Given the description of an element on the screen output the (x, y) to click on. 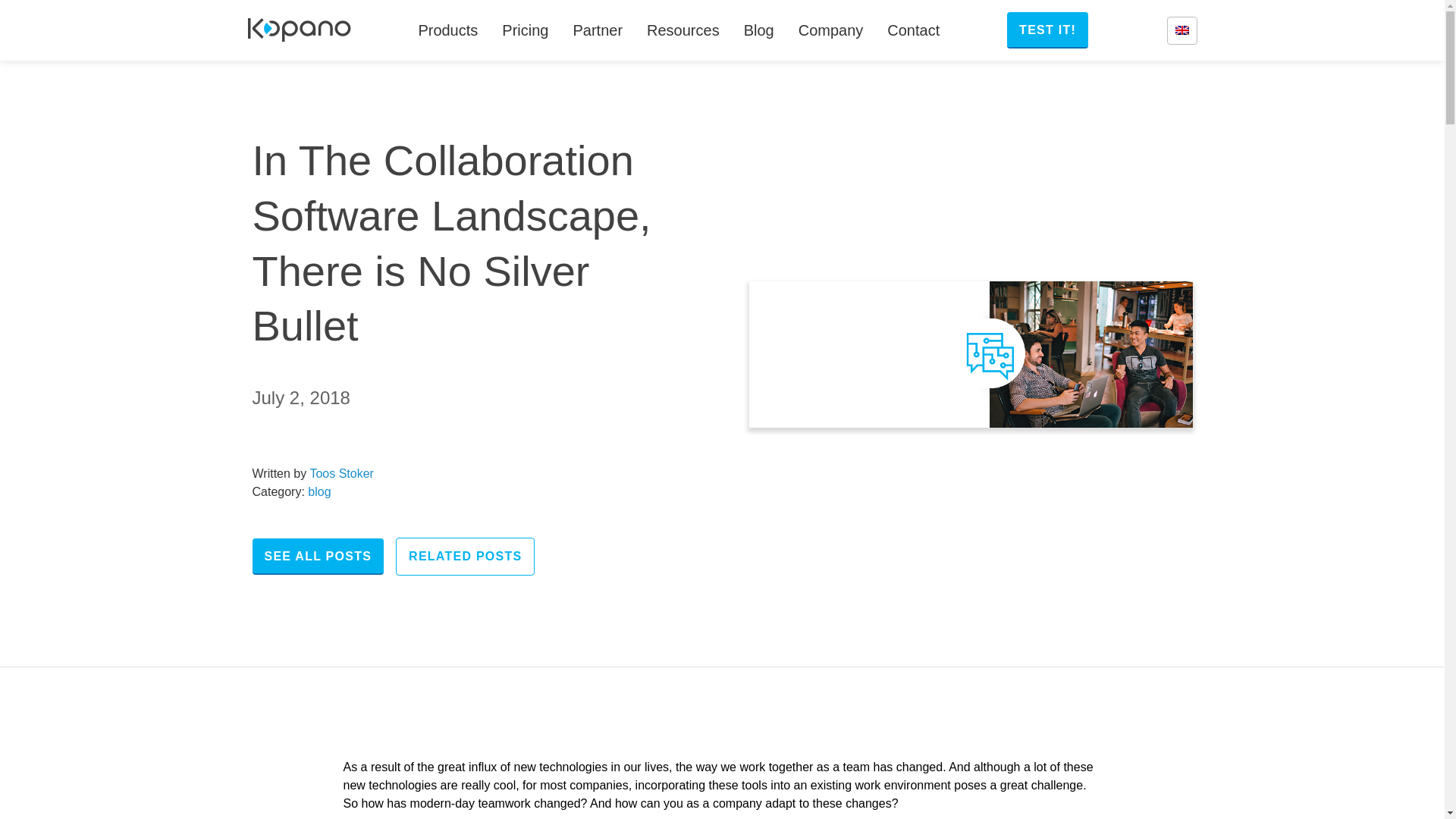
Partner (597, 30)
Pricing (524, 30)
Resources (683, 30)
Posts by Toos Stoker (340, 472)
Company (831, 30)
Blog (759, 30)
Products (447, 30)
